Given the description of an element on the screen output the (x, y) to click on. 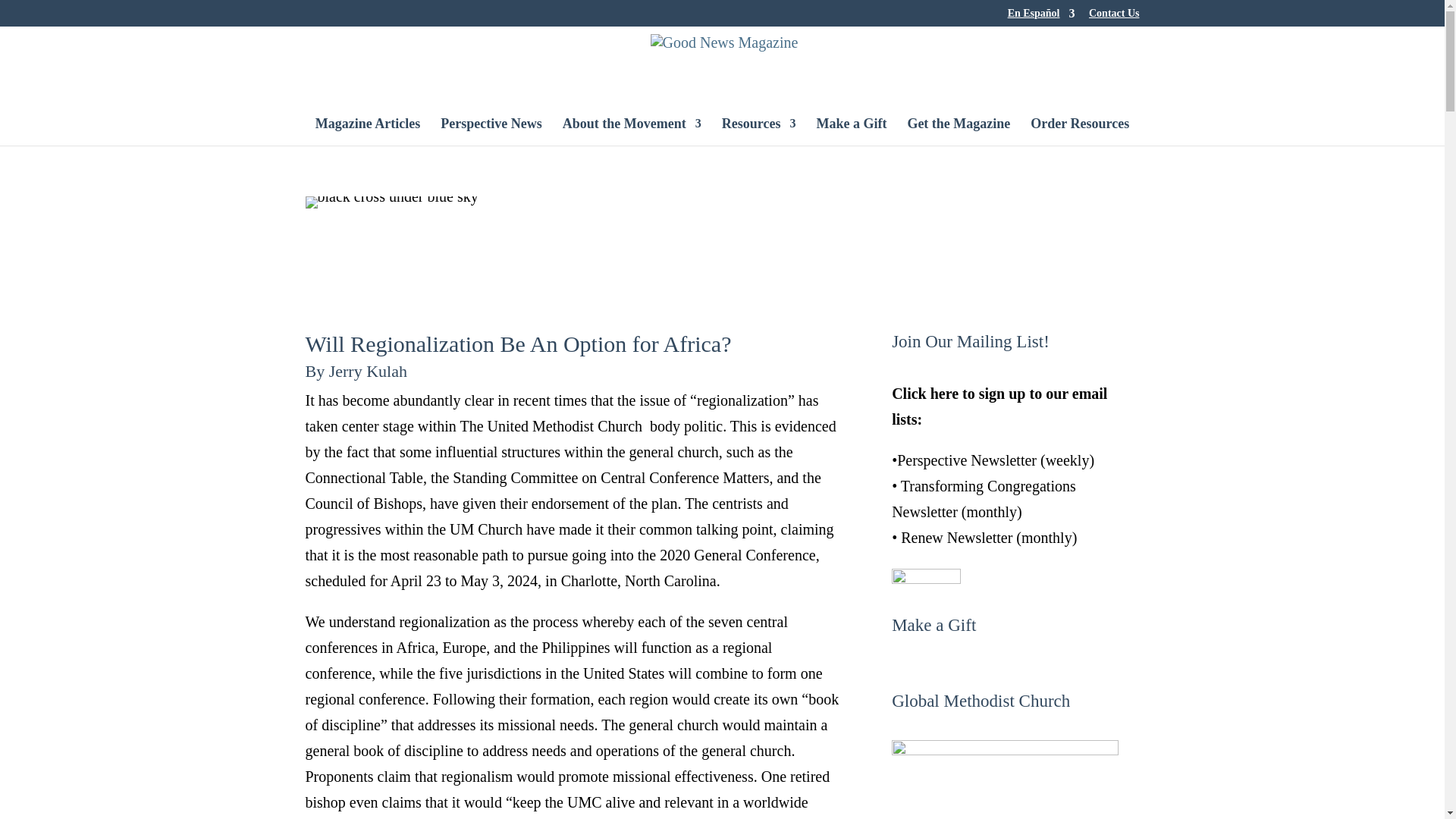
Make a Gift (850, 131)
Photo by Aaron Burden (390, 202)
Order Resources (1079, 131)
Resources (759, 131)
Contact Us (1114, 16)
Perspective News (491, 131)
Magazine Articles (367, 131)
Get the Magazine (958, 131)
About the Movement (631, 131)
Join Here (925, 578)
gdn-home-slider-gmclogo (1004, 779)
